Given the description of an element on the screen output the (x, y) to click on. 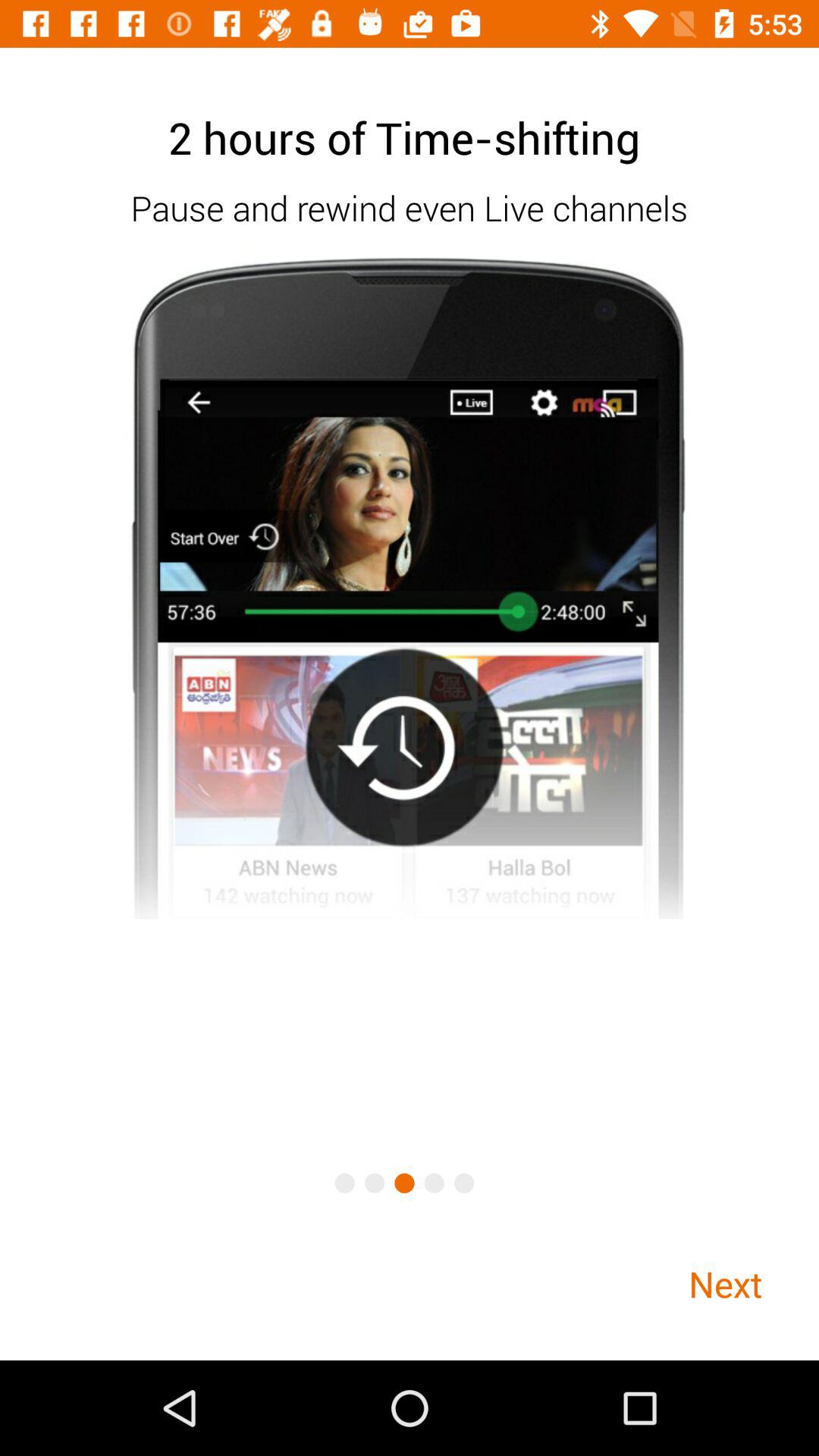
scroll to next icon (725, 1283)
